Given the description of an element on the screen output the (x, y) to click on. 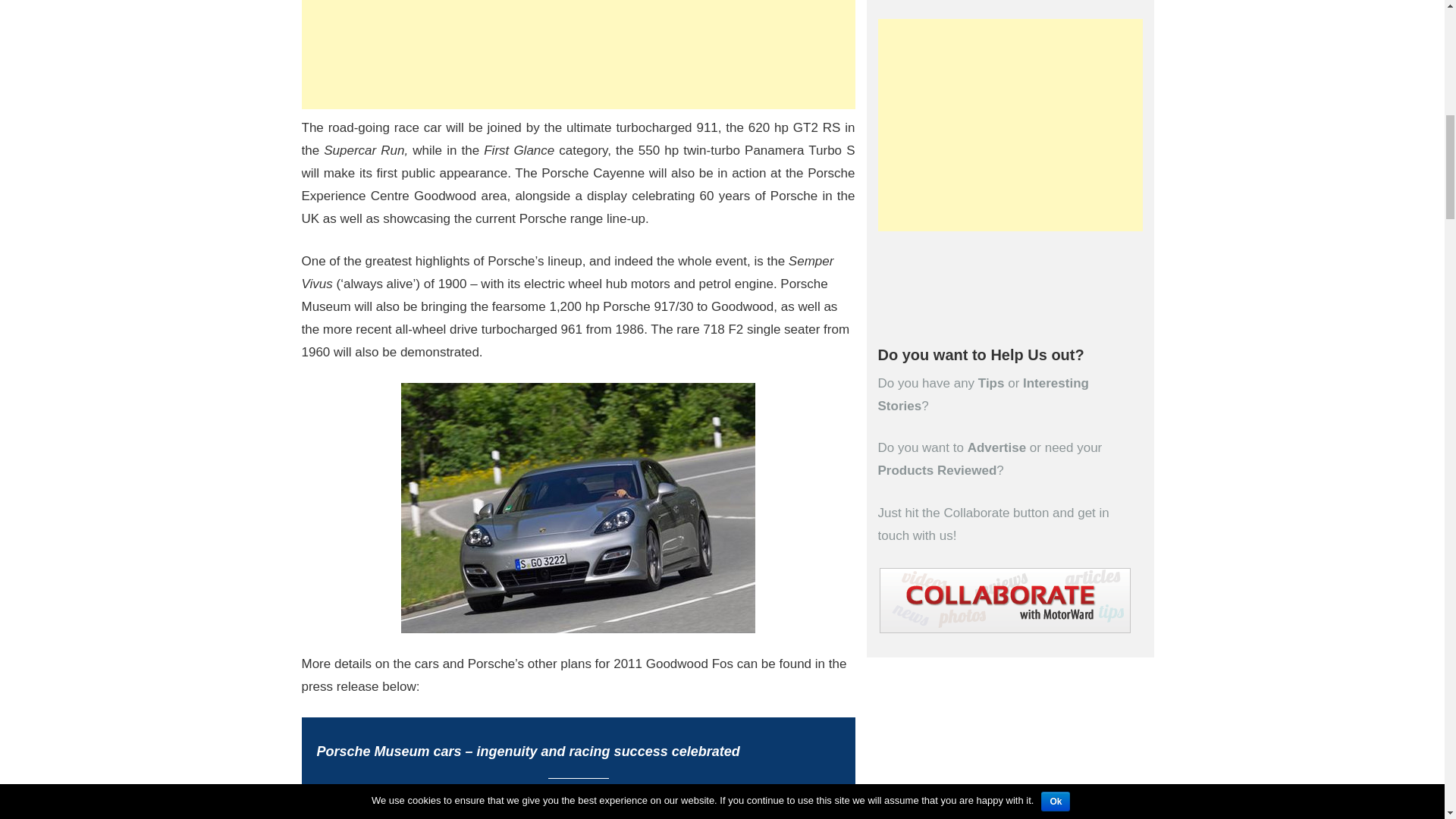
porsche 2011 goodwood 2 (578, 508)
Advertisement (578, 54)
Advertisement (1009, 124)
